Given the description of an element on the screen output the (x, y) to click on. 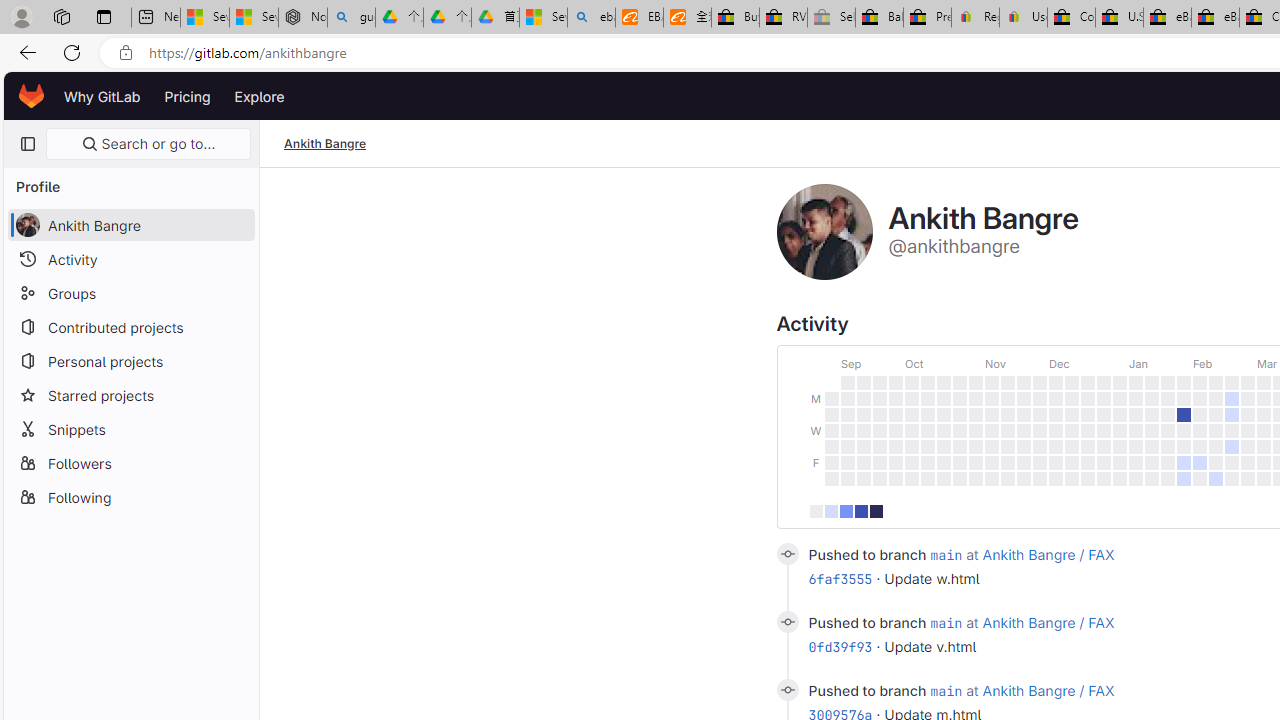
20-29 contributions (860, 510)
User profile picture (823, 232)
Snippets (130, 428)
Activity (130, 259)
1-9 contributions (831, 510)
